Given the description of an element on the screen output the (x, y) to click on. 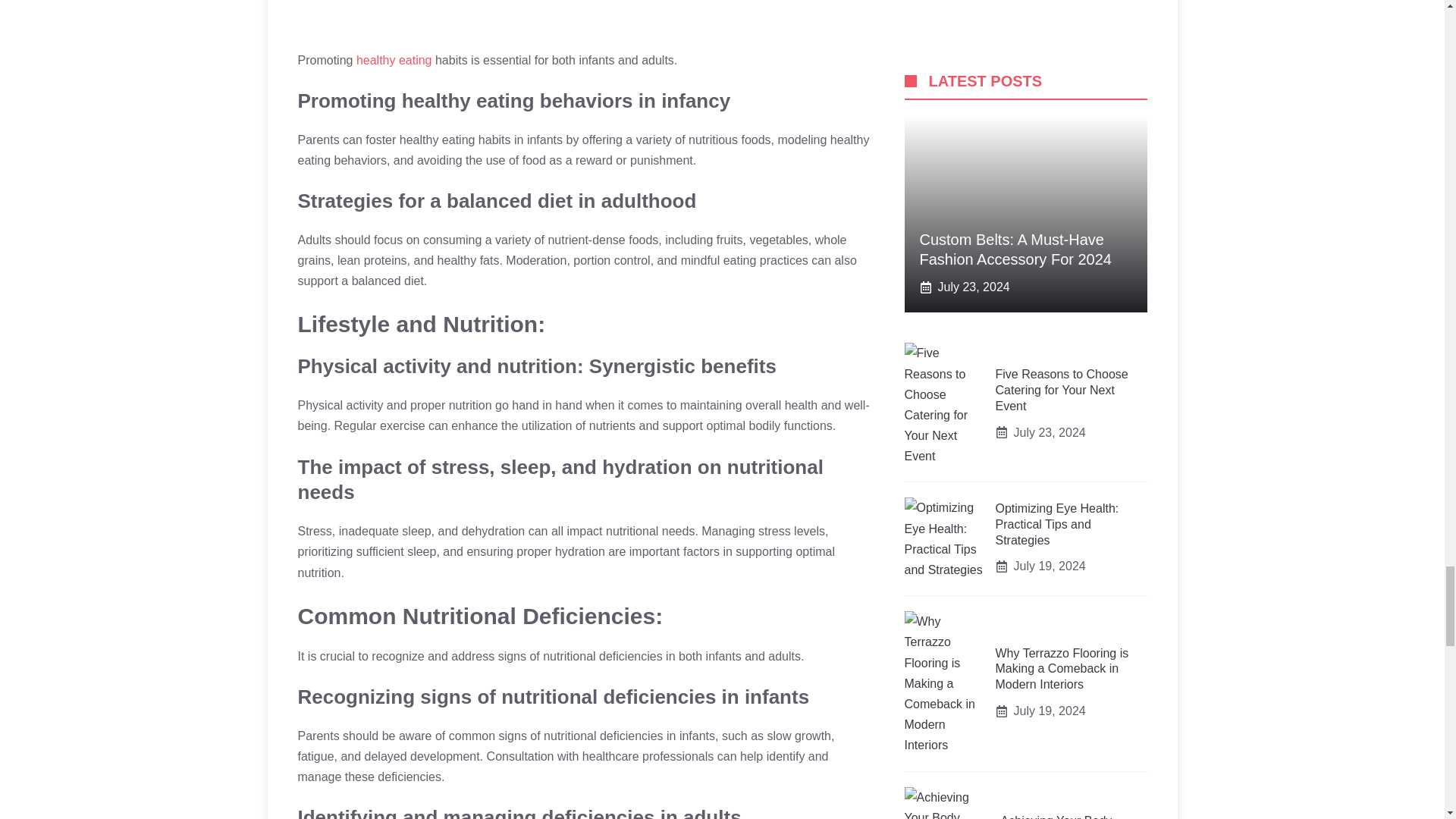
healthy eating (394, 60)
